Given the description of an element on the screen output the (x, y) to click on. 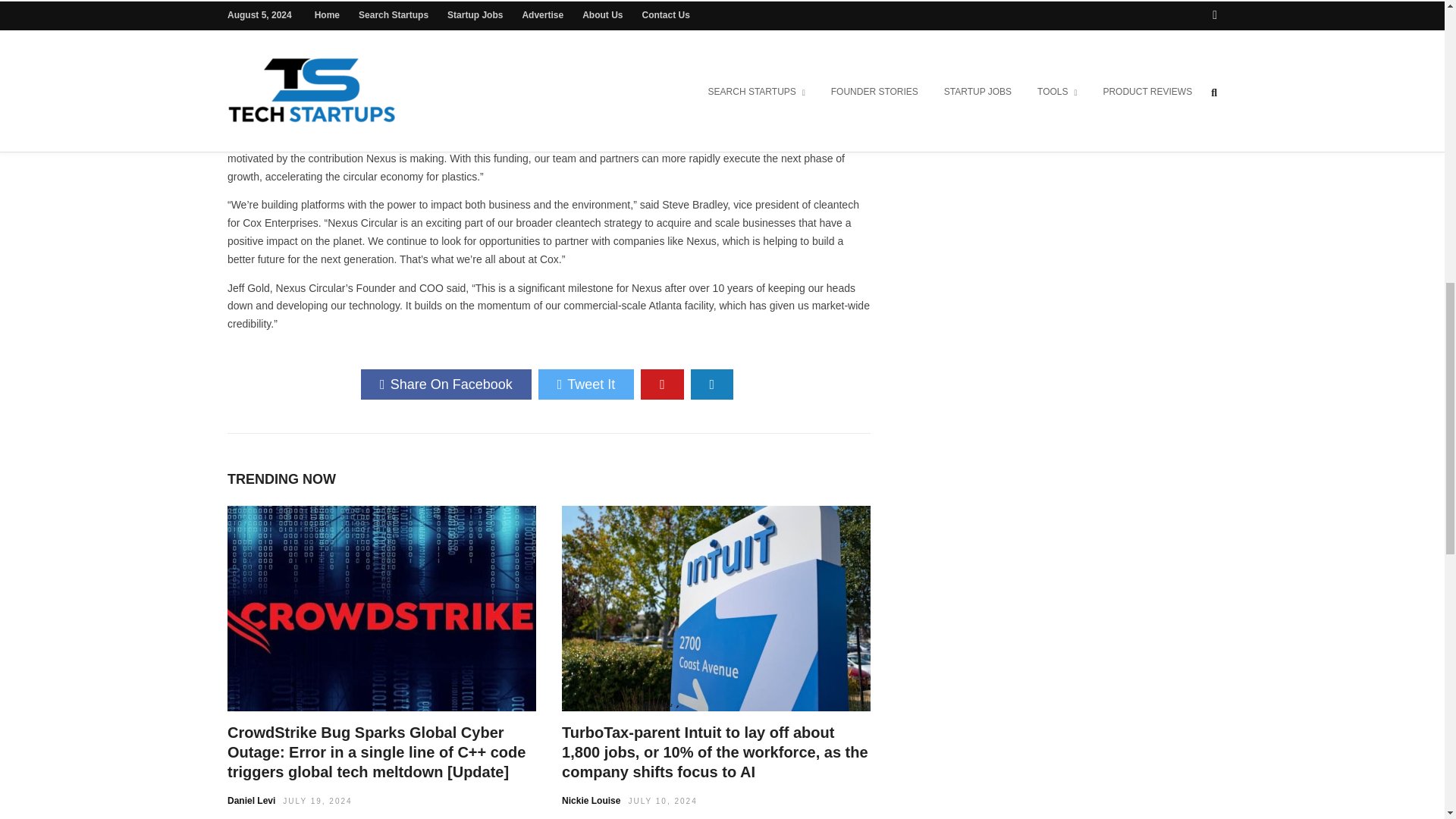
Share On Twitter (586, 384)
Share On Facebook (446, 384)
Share On Pinterest (662, 384)
Share by Email (711, 384)
